Given the description of an element on the screen output the (x, y) to click on. 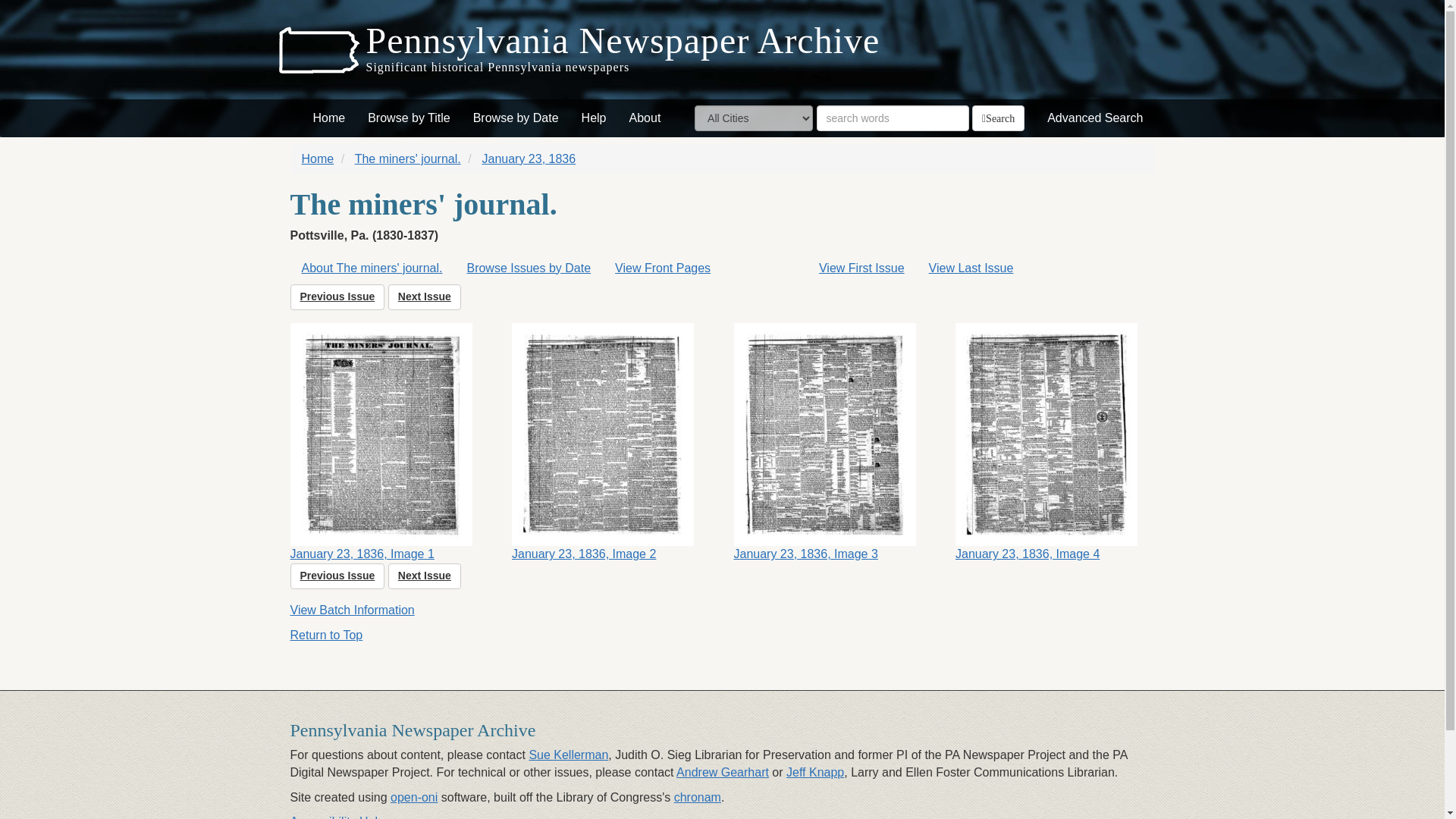
Sue Kellerman (568, 754)
Next Issue (424, 297)
Home (328, 118)
Next Issue (424, 575)
Help (593, 118)
Previous Issue (336, 297)
Accessibility Help (336, 816)
Browse by Date (515, 118)
January 23, 1836, Image 1 (389, 442)
January 23, 1836, Image 4 (1054, 442)
View Batch Information (351, 609)
Browse by Title (408, 118)
Previous Issue (336, 575)
Browse Issues by Date (528, 268)
Andrew Gearhart (722, 771)
